Given the description of an element on the screen output the (x, y) to click on. 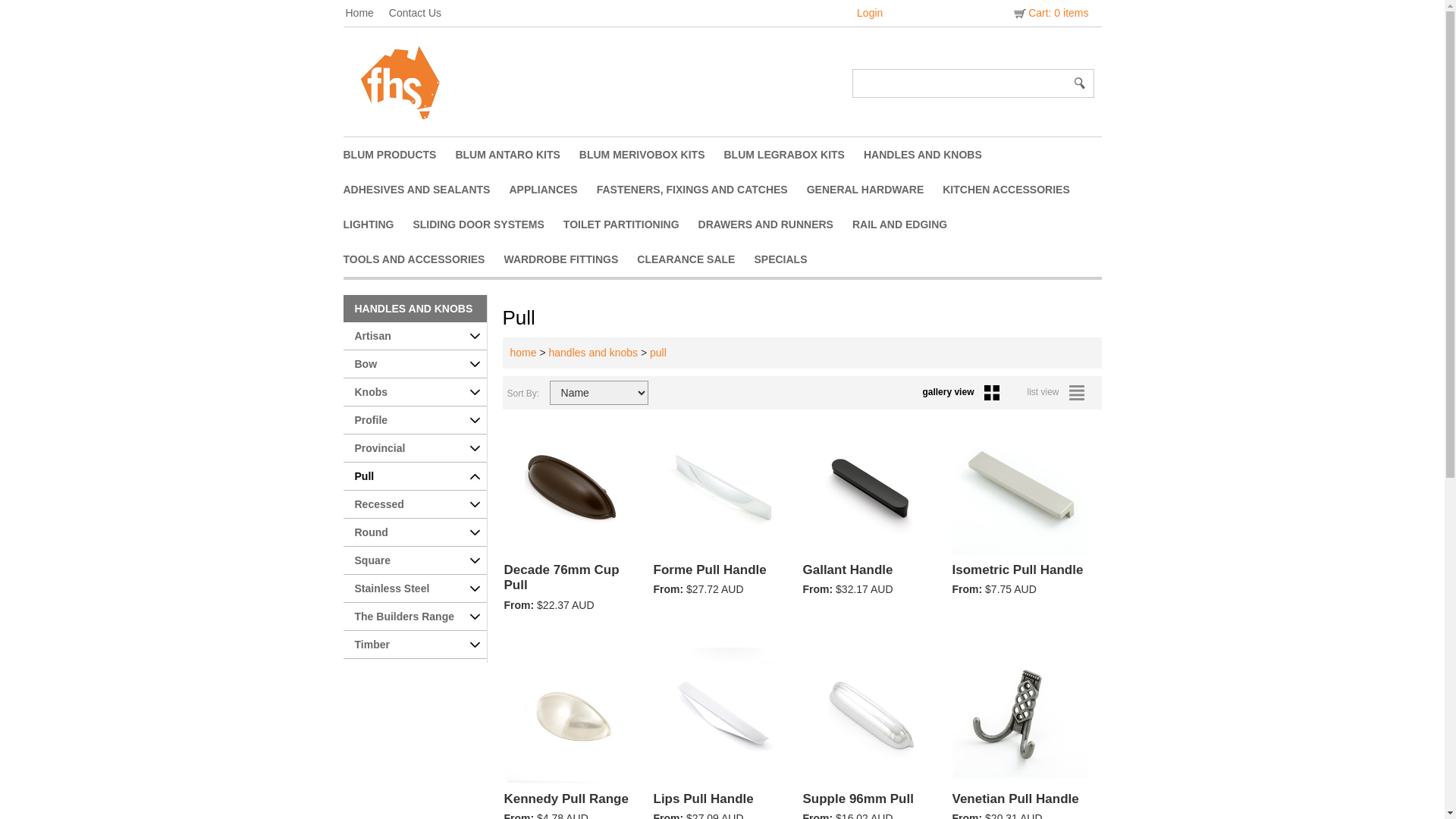
APPLIANCES Element type: text (552, 189)
Isometric Pull Handle Element type: text (1022, 578)
BLUM MERIVOBOX KITS Element type: text (651, 154)
BLUM PRODUCTS Element type: text (398, 154)
KITCHEN ACCESSORIES Element type: text (1015, 189)
SLIDING DOOR SYSTEMS Element type: text (487, 224)
Provincial Element type: text (414, 448)
BLUM ANTARO KITS Element type: text (516, 154)
TOOLS AND ACCESSORIES Element type: text (422, 258)
Search Products... Element type: hover (960, 83)
Square Element type: text (414, 560)
Recessed Element type: text (414, 504)
Round Element type: text (414, 532)
CLEARANCE SALE Element type: text (695, 258)
Login Element type: text (869, 12)
GENERAL HARDWARE Element type: text (874, 189)
HANDLES AND KNOBS Element type: text (414, 308)
ADHESIVES AND SEALANTS Element type: text (425, 189)
gallery view Element type: text (964, 391)
TOILET PARTITIONING Element type: text (630, 224)
Artisan Element type: text (414, 336)
Decade 76mm Cup Pull Element type: text (573, 586)
SPECIALS Element type: text (789, 258)
Cart: 0 items Element type: text (1049, 12)
FASTENERS, FIXINGS AND CATCHES Element type: text (701, 189)
Profile Element type: text (414, 420)
handles and knobs Element type: text (593, 352)
RAIL AND EDGING Element type: text (909, 224)
Home Element type: text (367, 12)
Knobs Element type: text (414, 392)
Pull Element type: text (414, 476)
Forme Pull Handle Element type: text (723, 578)
The Builders Range Element type: text (414, 616)
HANDLES AND KNOBS Element type: text (932, 154)
Stainless Steel Element type: text (414, 588)
list view Element type: text (1058, 391)
home Element type: text (522, 352)
Timber Element type: text (414, 644)
Bow Element type: text (414, 364)
DRAWERS AND RUNNERS Element type: text (775, 224)
LIGHTING Element type: text (377, 224)
Contact Us Element type: text (422, 12)
pull Element type: text (657, 352)
BLUM LEGRABOX KITS Element type: text (792, 154)
WARDROBE FITTINGS Element type: text (570, 258)
Gallant Handle Element type: text (872, 578)
